Given the description of an element on the screen output the (x, y) to click on. 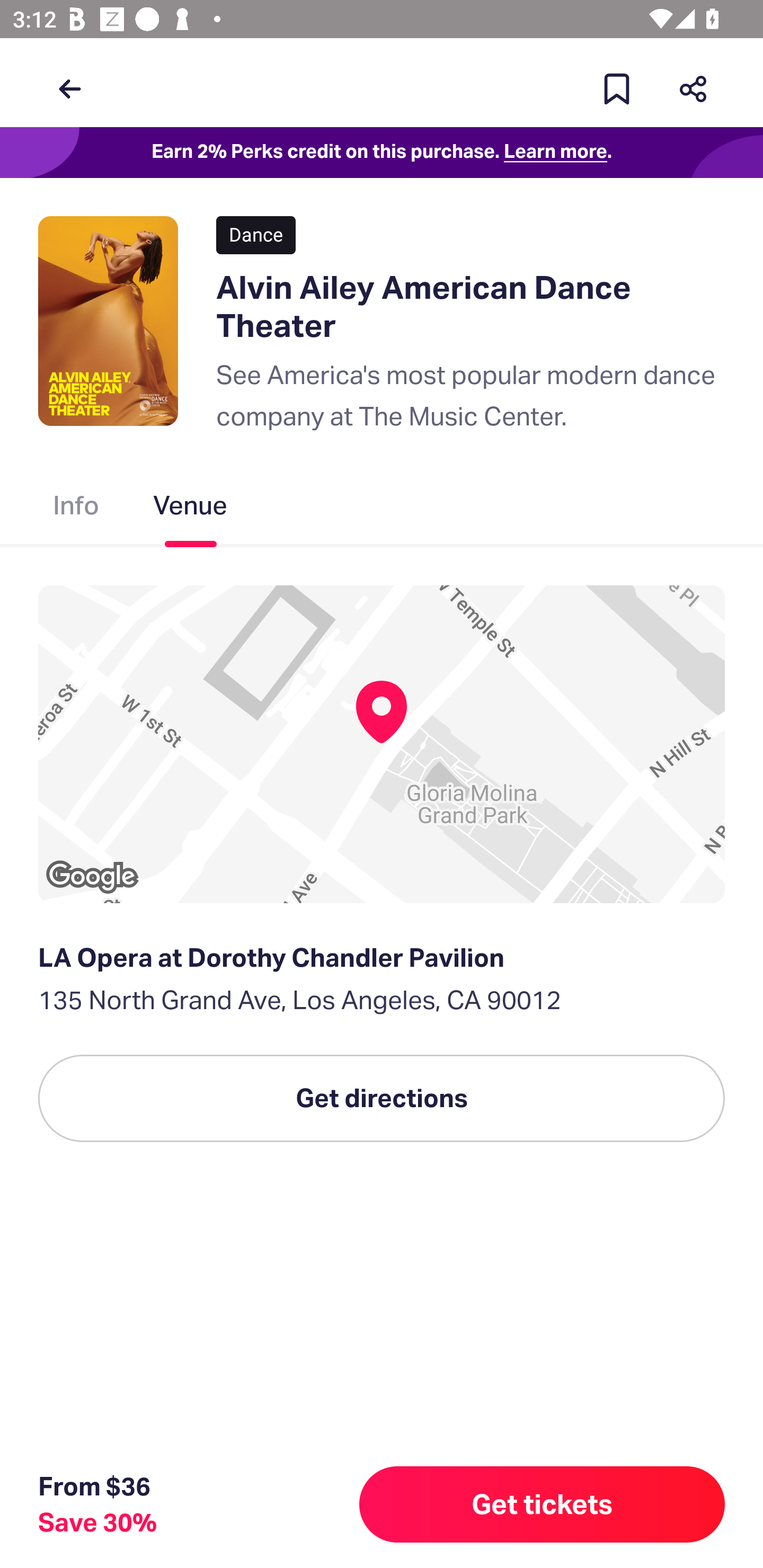
Earn 2% Perks credit on this purchase. Learn more. (381, 152)
Info (76, 508)
Google Map LA Opera at Dorothy Chandler Pavilion.  (381, 743)
Get directions (381, 1098)
Get tickets (541, 1504)
